Given the description of an element on the screen output the (x, y) to click on. 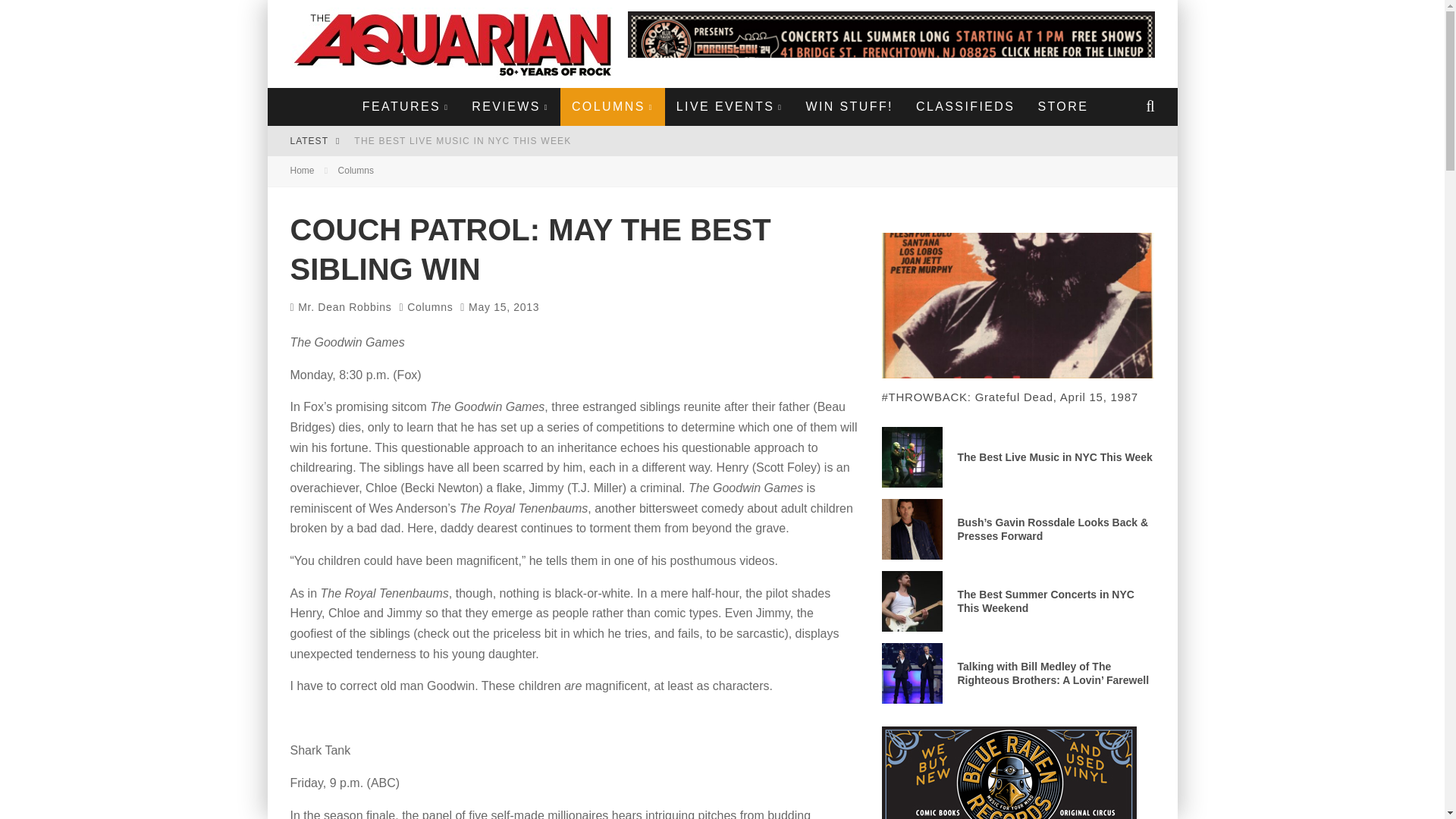
REVIEWS (510, 106)
COLUMNS (612, 106)
The Best Live Music in NYC This Week (461, 140)
FEATURES (405, 106)
